Given the description of an element on the screen output the (x, y) to click on. 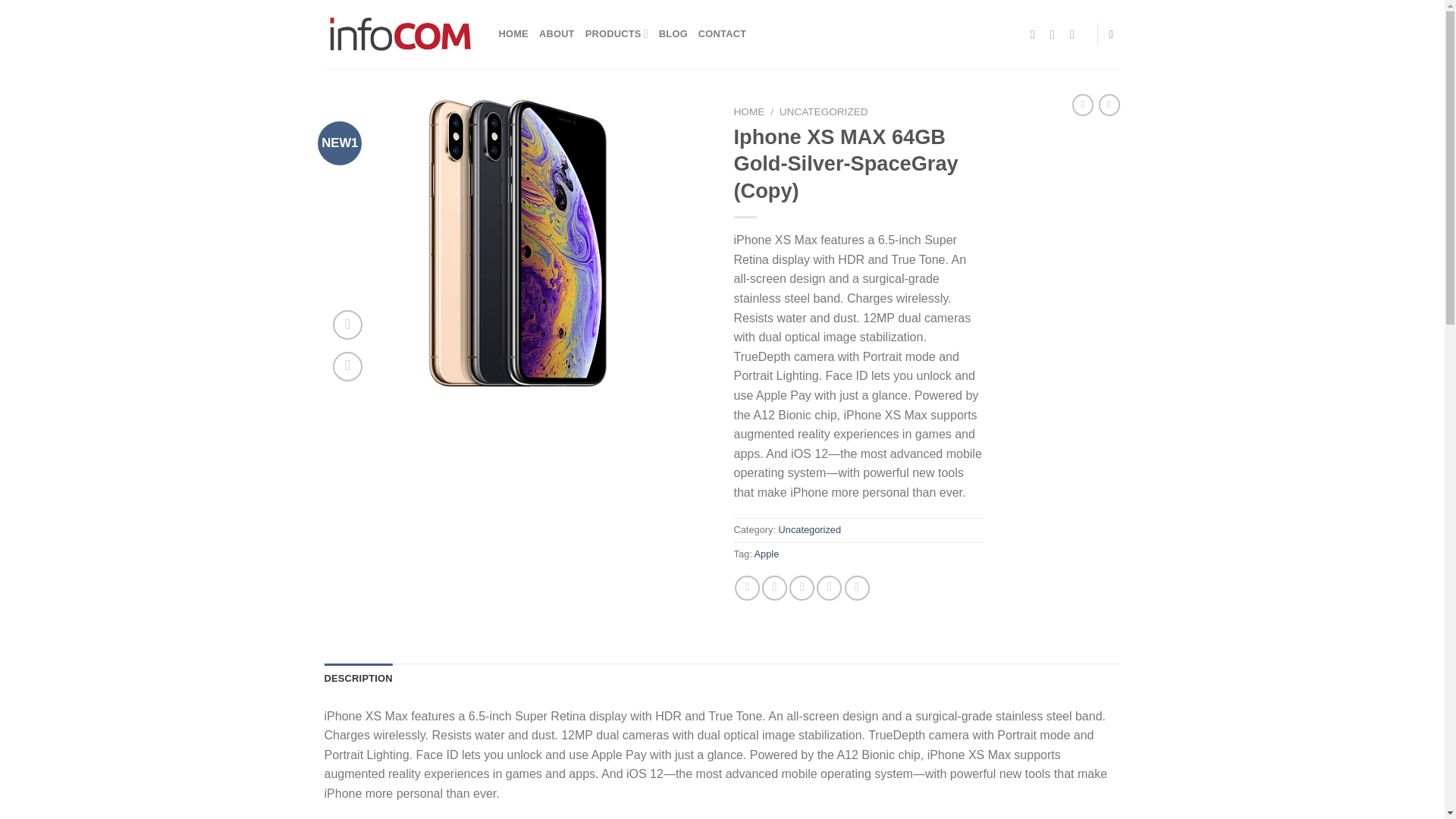
Call us (1075, 33)
Share on Twitter (774, 587)
201809131012244695 (517, 243)
Video (347, 324)
Zoom (347, 366)
HOME (749, 111)
Email to a Friend (801, 587)
Apple (766, 553)
Share on Facebook (747, 587)
Pin on Pinterest (828, 587)
ABOUT (556, 33)
UNCATEGORIZED (822, 111)
HOME (513, 33)
BLOG (673, 33)
